Given the description of an element on the screen output the (x, y) to click on. 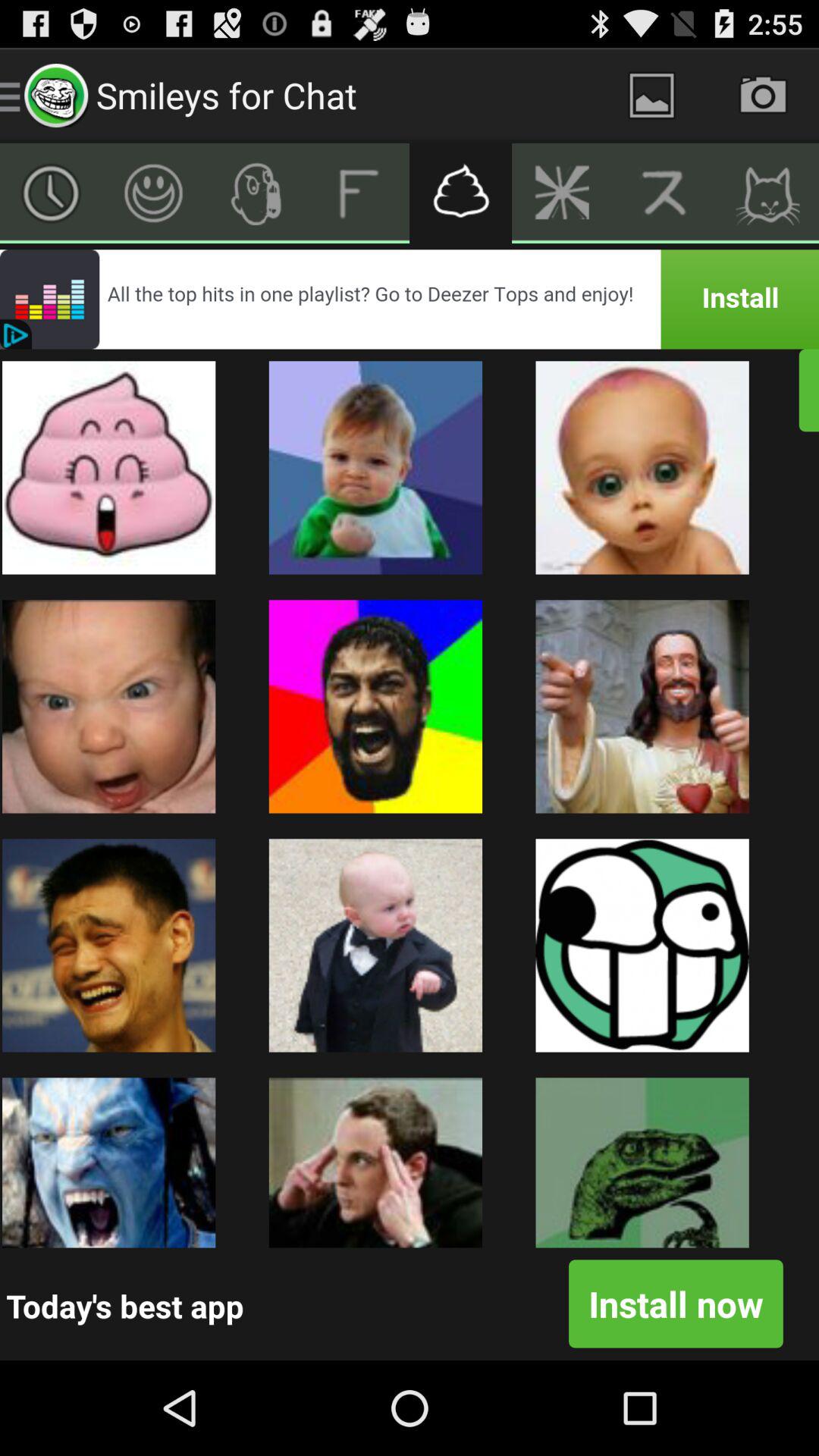
go to image page (651, 95)
